Given the description of an element on the screen output the (x, y) to click on. 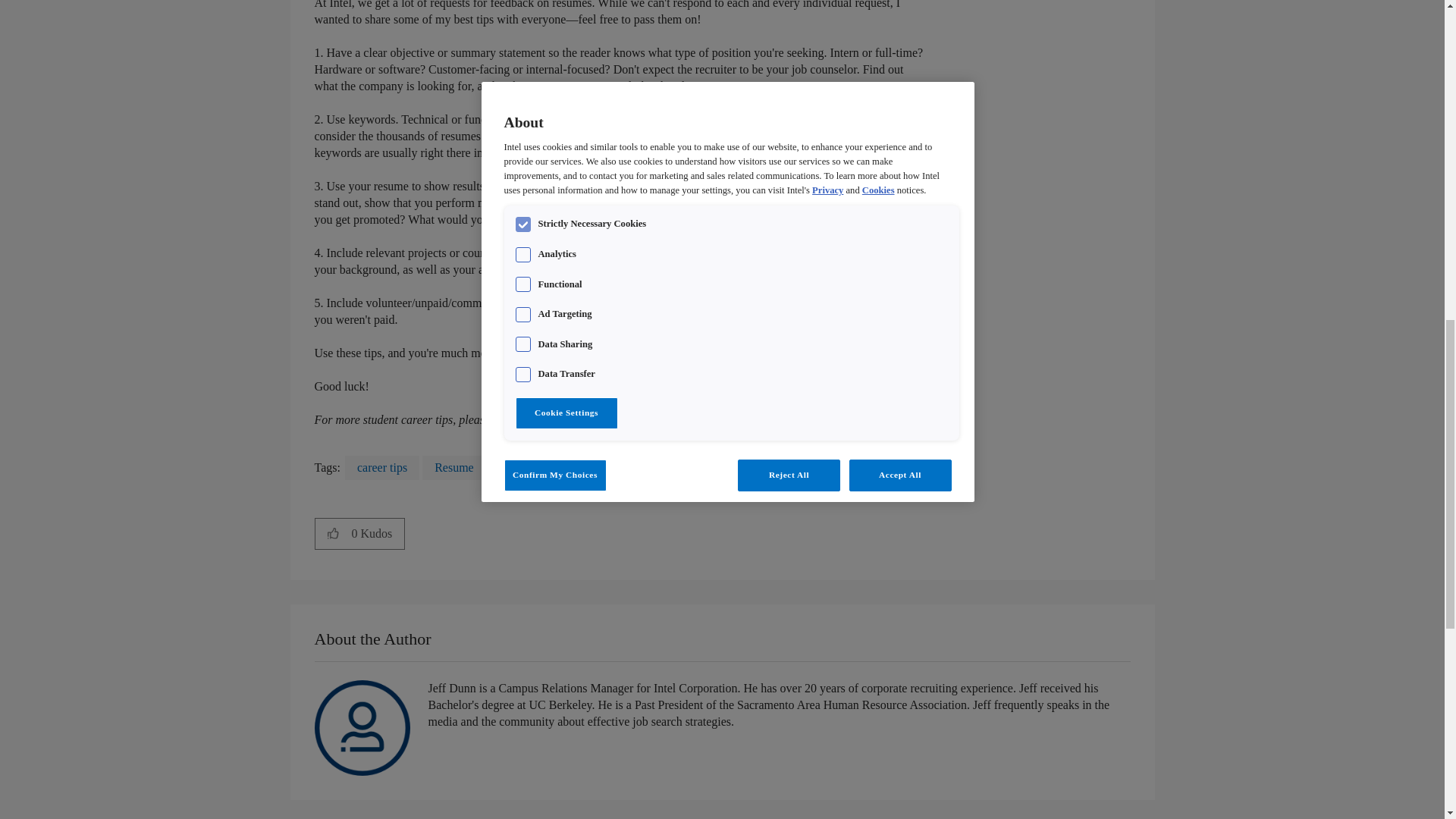
The total number of kudos this post has received. (377, 533)
Click here to give kudos to this post. (332, 532)
